Given the description of an element on the screen output the (x, y) to click on. 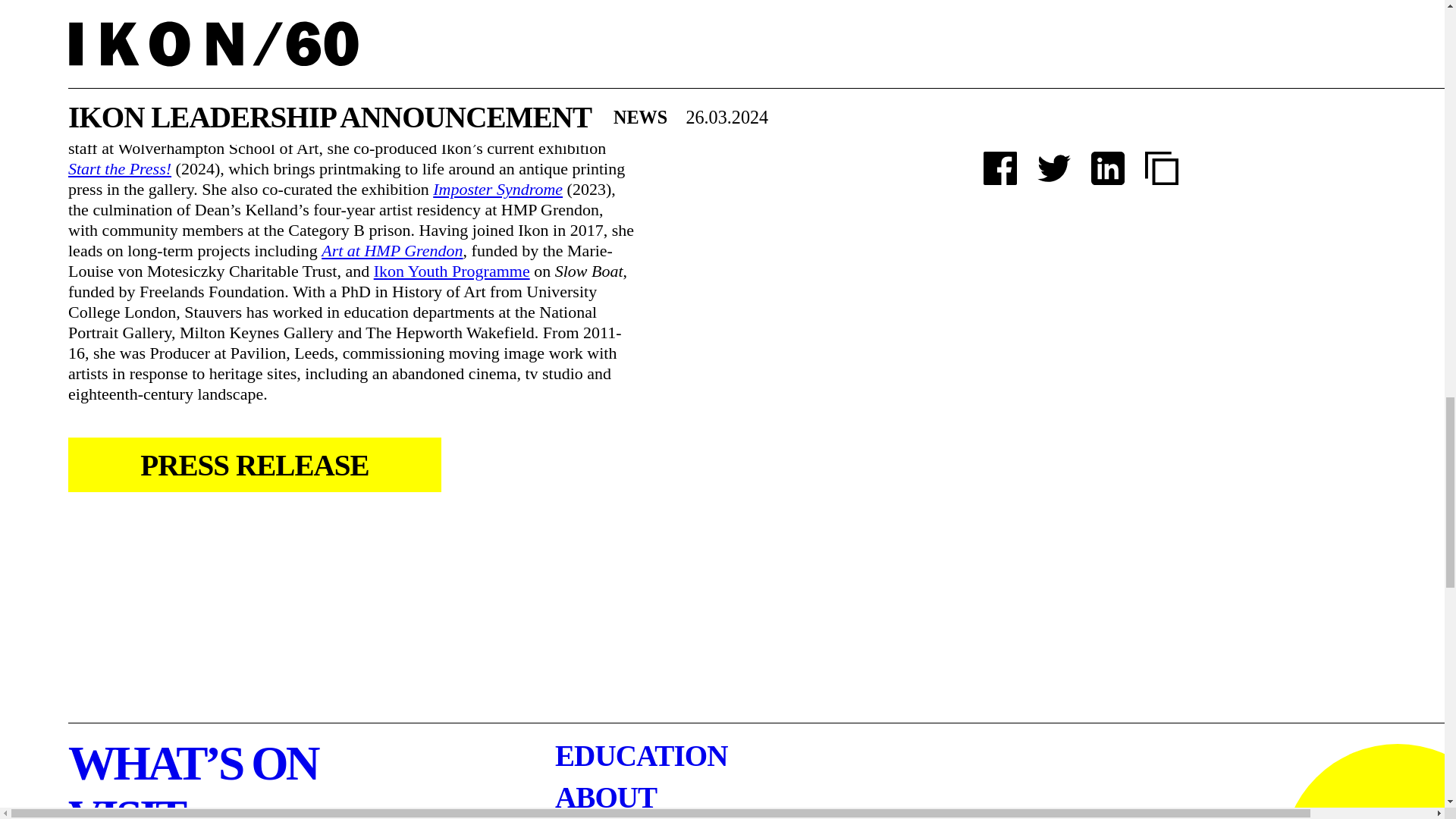
PRESS RELEASE (254, 464)
Start the Press! (119, 168)
Imposter Syndrome (497, 189)
DONATE (1369, 781)
EDUCATION (640, 755)
VISIT (126, 806)
ABOUT (605, 797)
Art at HMP Grendon (392, 250)
Ikon Youth Programme (451, 270)
